Given the description of an element on the screen output the (x, y) to click on. 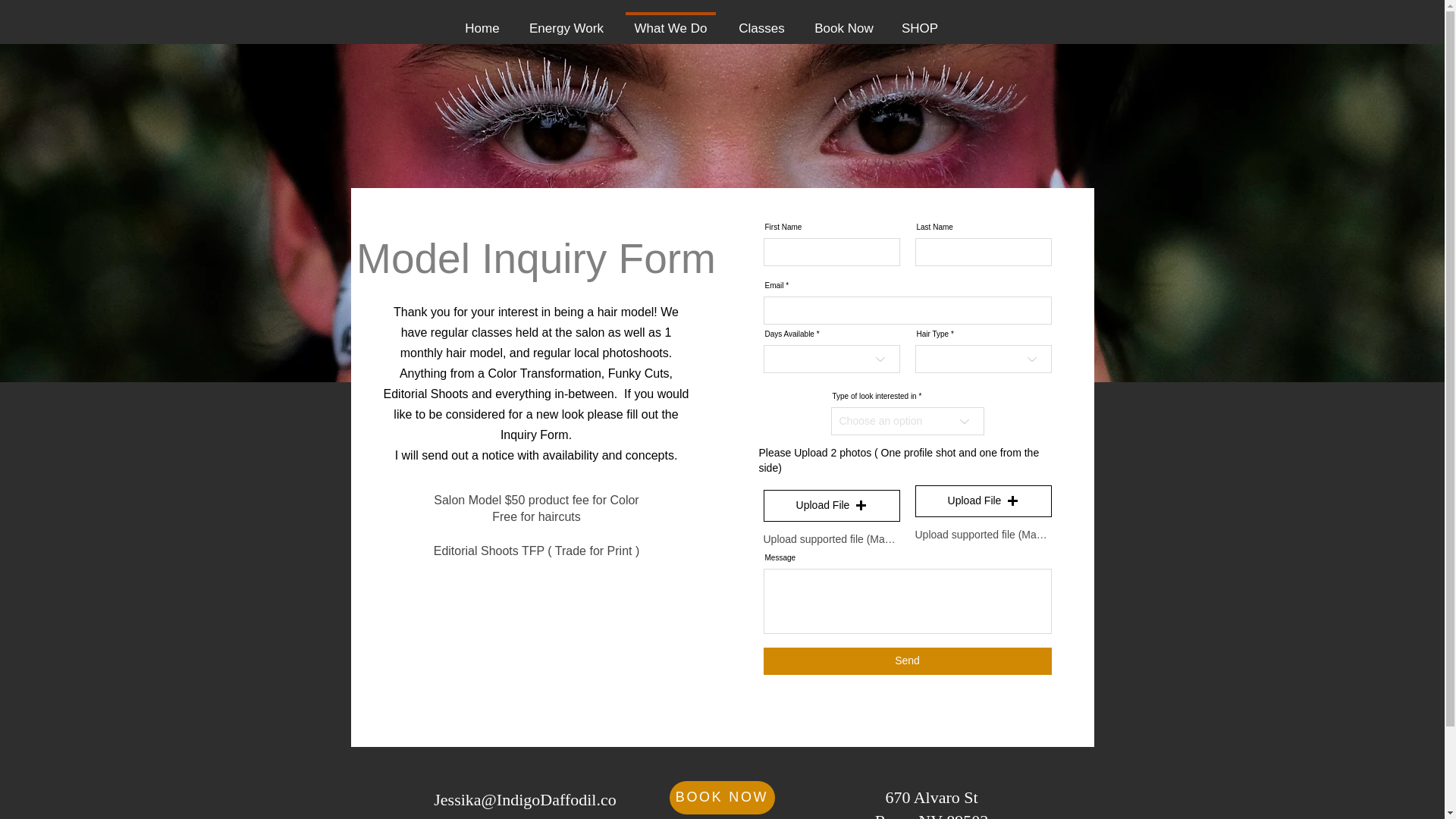
Energy Work (566, 21)
BOOK NOW (721, 796)
Home (482, 21)
Send (906, 660)
Classes (761, 21)
Book Now (931, 803)
What We Do (843, 21)
